Given the description of an element on the screen output the (x, y) to click on. 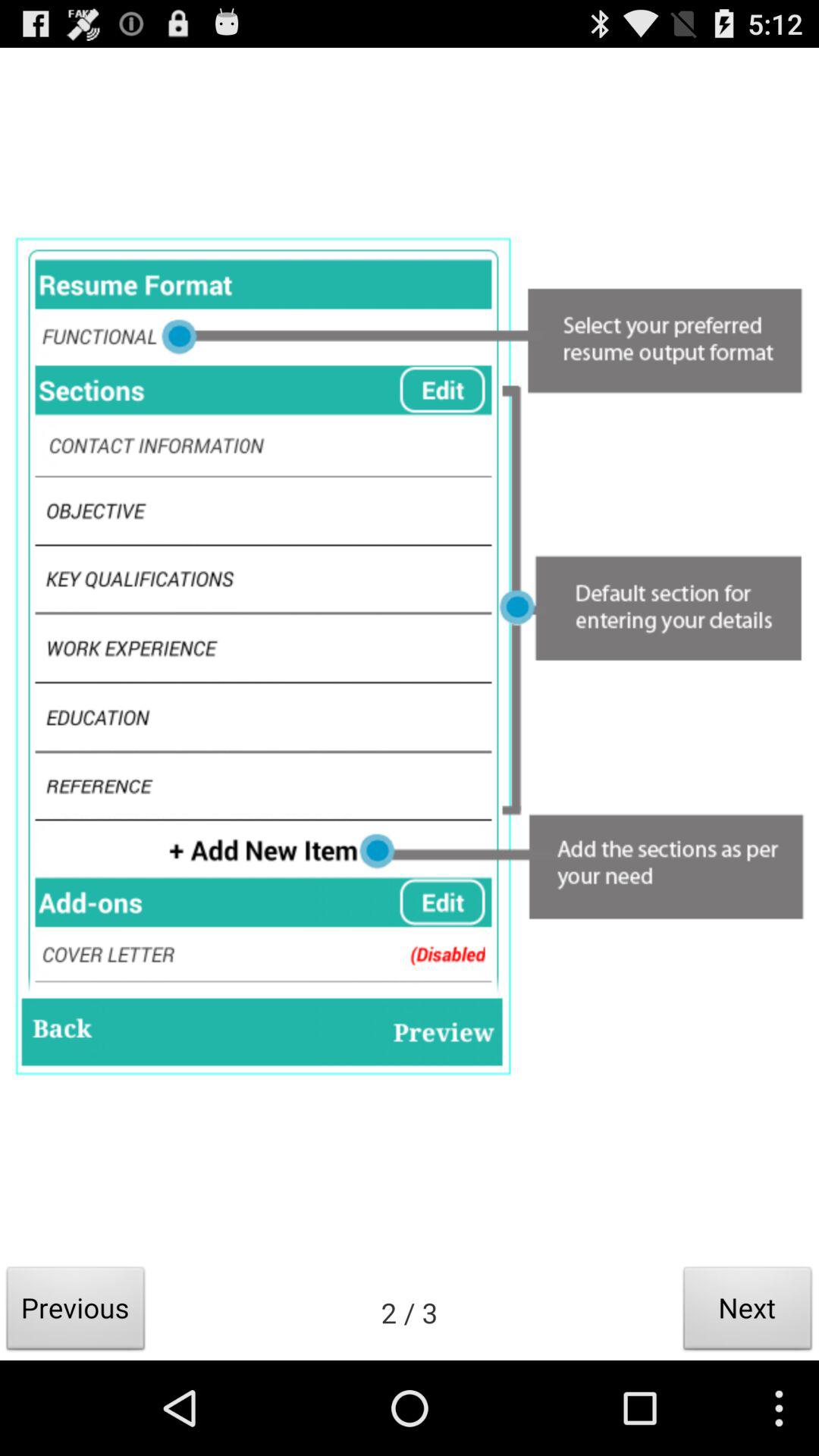
swipe until next    icon (747, 1312)
